Given the description of an element on the screen output the (x, y) to click on. 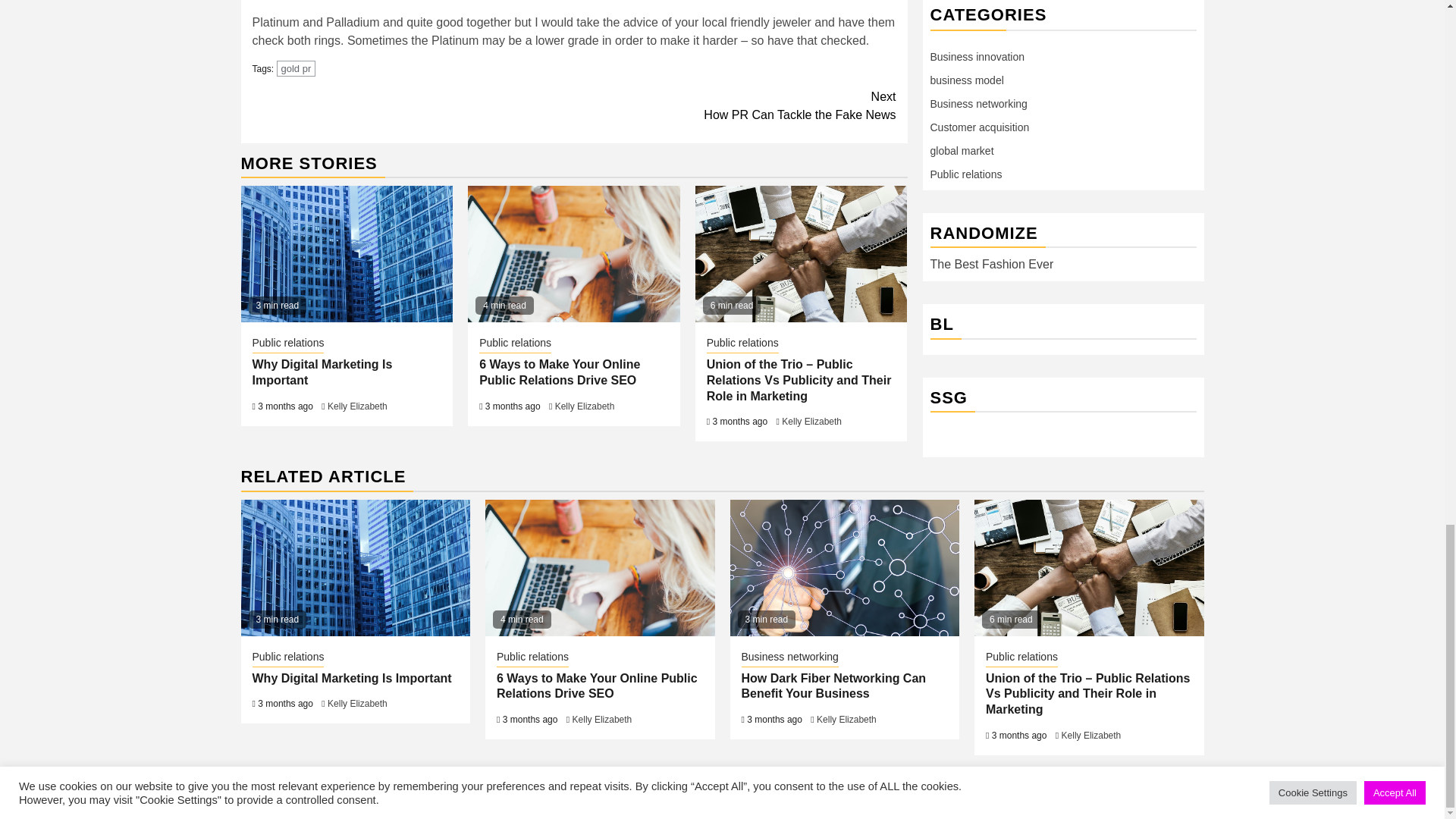
6 Ways to Make Your Online Public Relations Drive SEO (573, 253)
Public relations (515, 343)
Public relations (742, 343)
Why Digital Marketing Is Important (734, 105)
gold pr (321, 371)
How Dark Fiber Networking Can Benefit Your Business (295, 68)
Kelly Elizabeth (844, 567)
Why Digital Marketing Is Important (811, 421)
6 Ways to Make Your Online Public Relations Drive SEO (355, 567)
6 Ways to Make Your Online Public Relations Drive SEO (599, 567)
Why Digital Marketing Is Important (559, 371)
Kelly Elizabeth (346, 253)
Public relations (357, 406)
Kelly Elizabeth (287, 343)
